Given the description of an element on the screen output the (x, y) to click on. 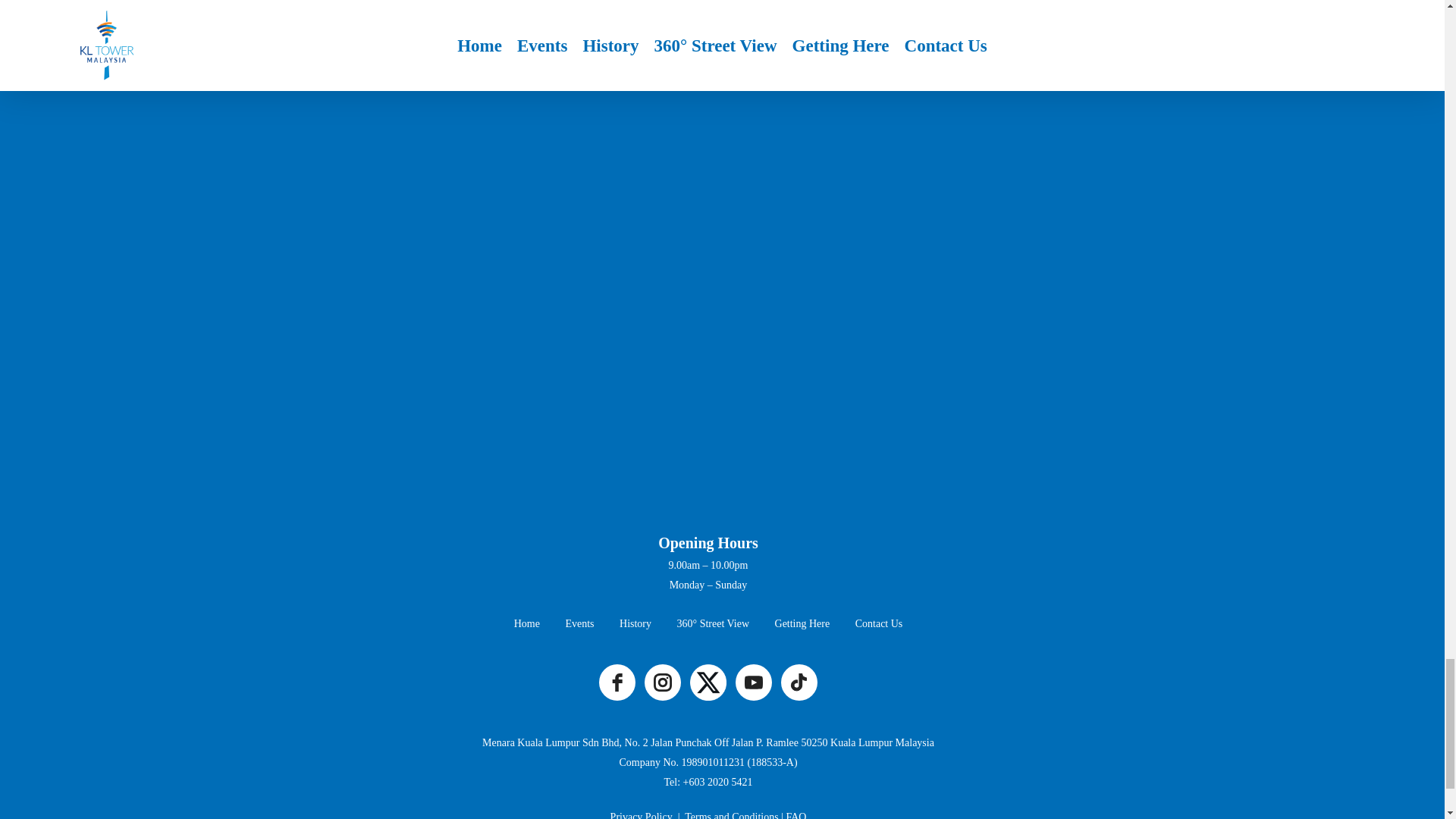
Getting Here (801, 623)
History (635, 623)
Privacy Policy (641, 815)
Events (579, 623)
Contact Us (879, 623)
Home (526, 623)
FAQ (796, 815)
